Given the description of an element on the screen output the (x, y) to click on. 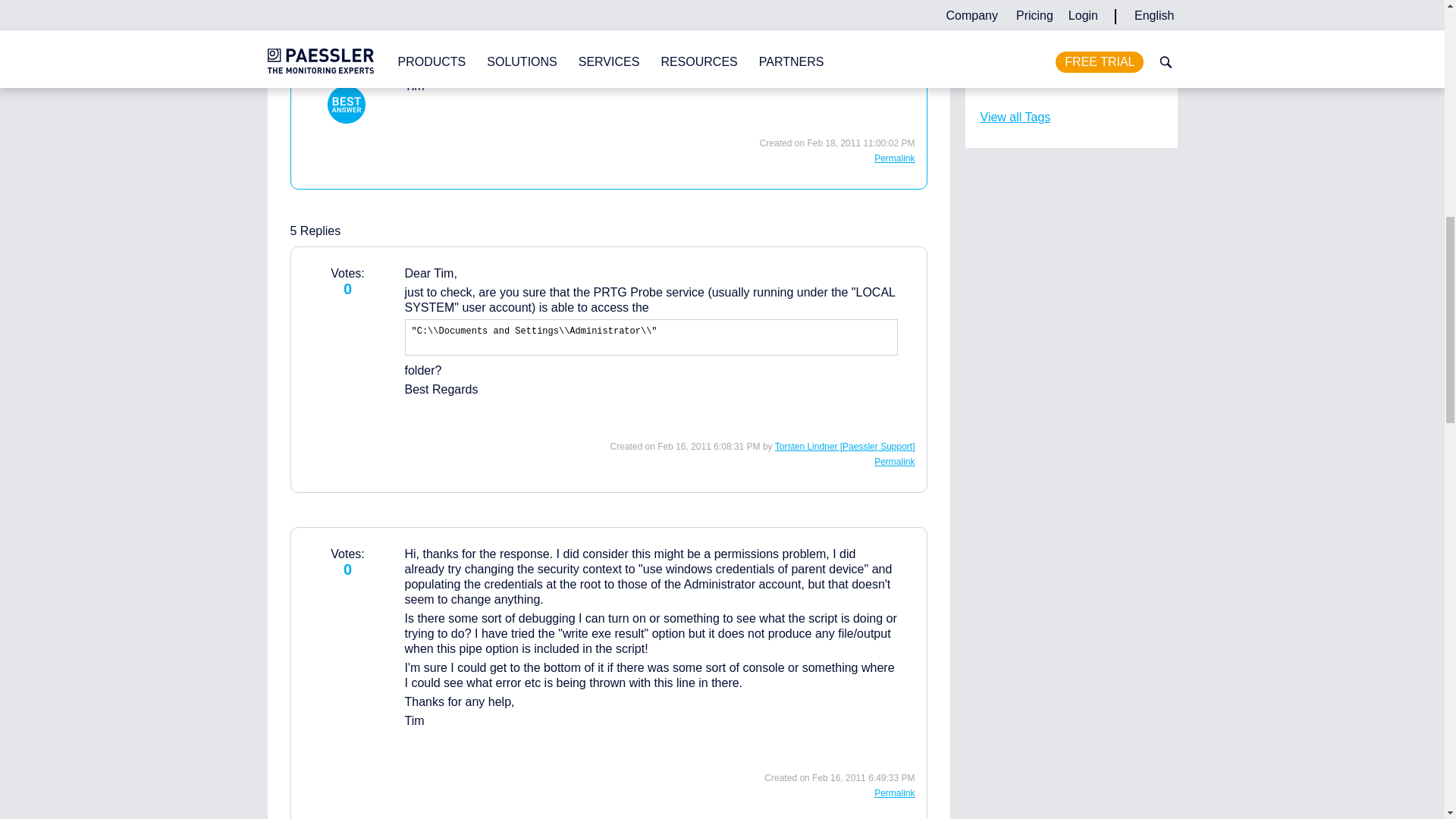
Profile of this user (844, 446)
Permalink to this reply (894, 792)
Permalink to this reply (894, 461)
Permalink to this reply (894, 158)
